Given the description of an element on the screen output the (x, y) to click on. 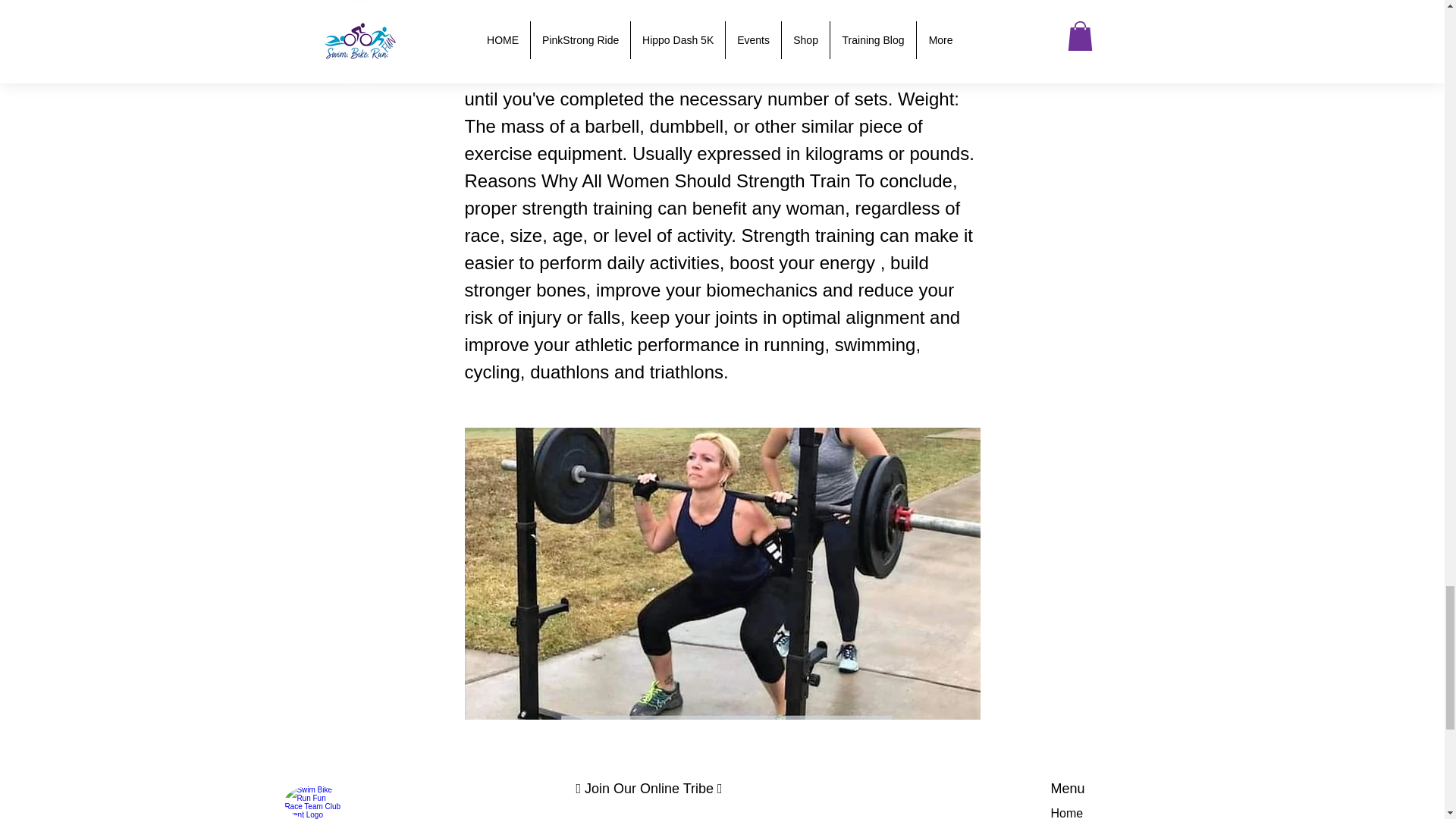
Home (1067, 812)
